Given the description of an element on the screen output the (x, y) to click on. 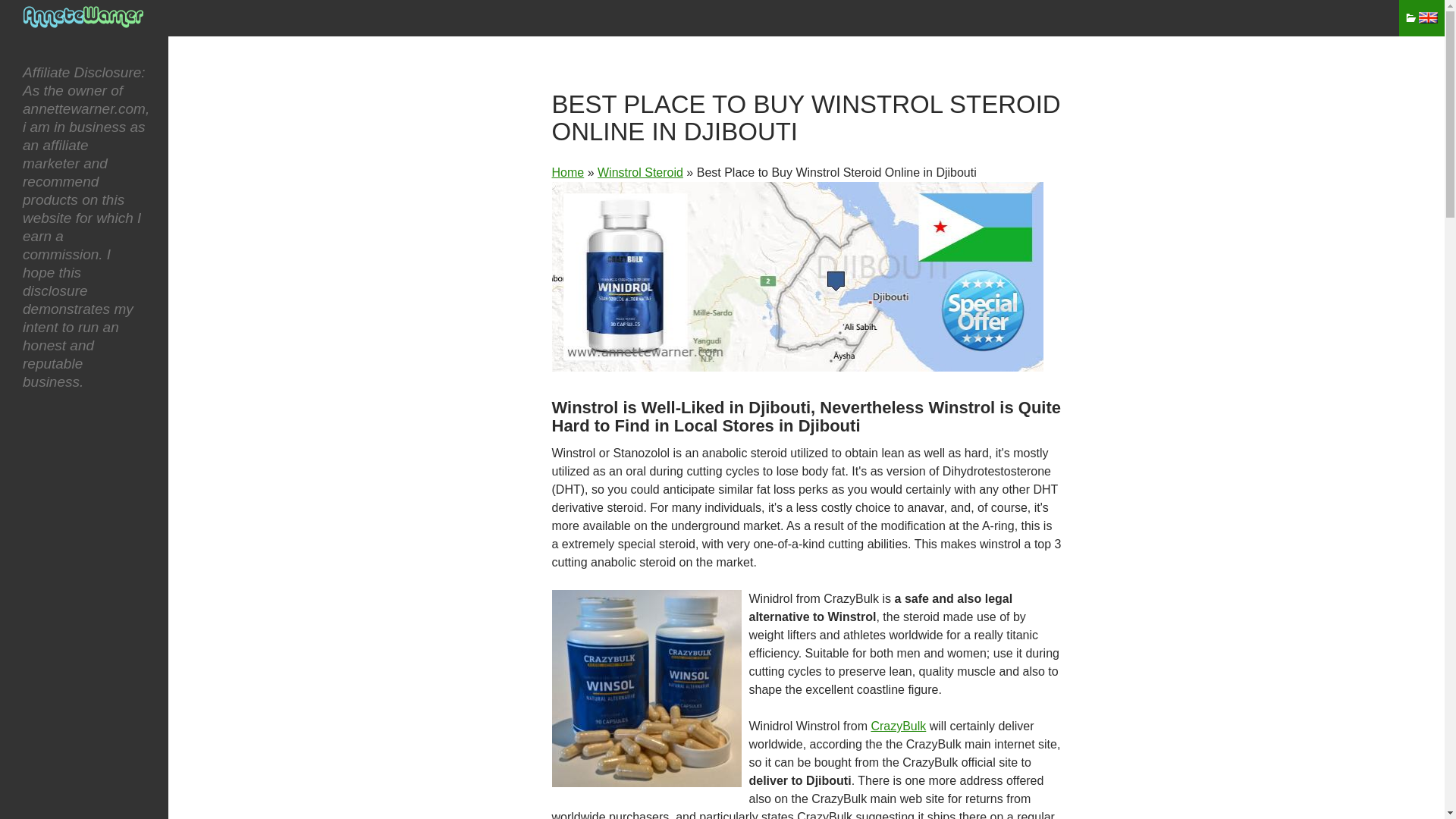
Winstrol Steroid (639, 172)
Buy Winstrol Steroid online Djibouti (797, 276)
Home (568, 172)
Where Can I Buy Winstrol in Djibouti (646, 688)
Buy Winstrol Steroid Online  (639, 172)
